Given the description of an element on the screen output the (x, y) to click on. 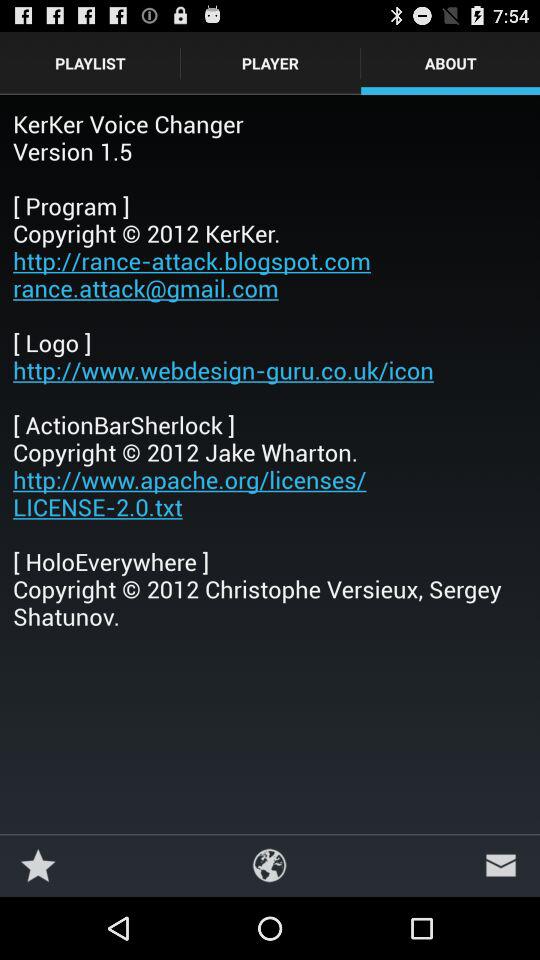
choose the item at the bottom right corner (500, 864)
